Given the description of an element on the screen output the (x, y) to click on. 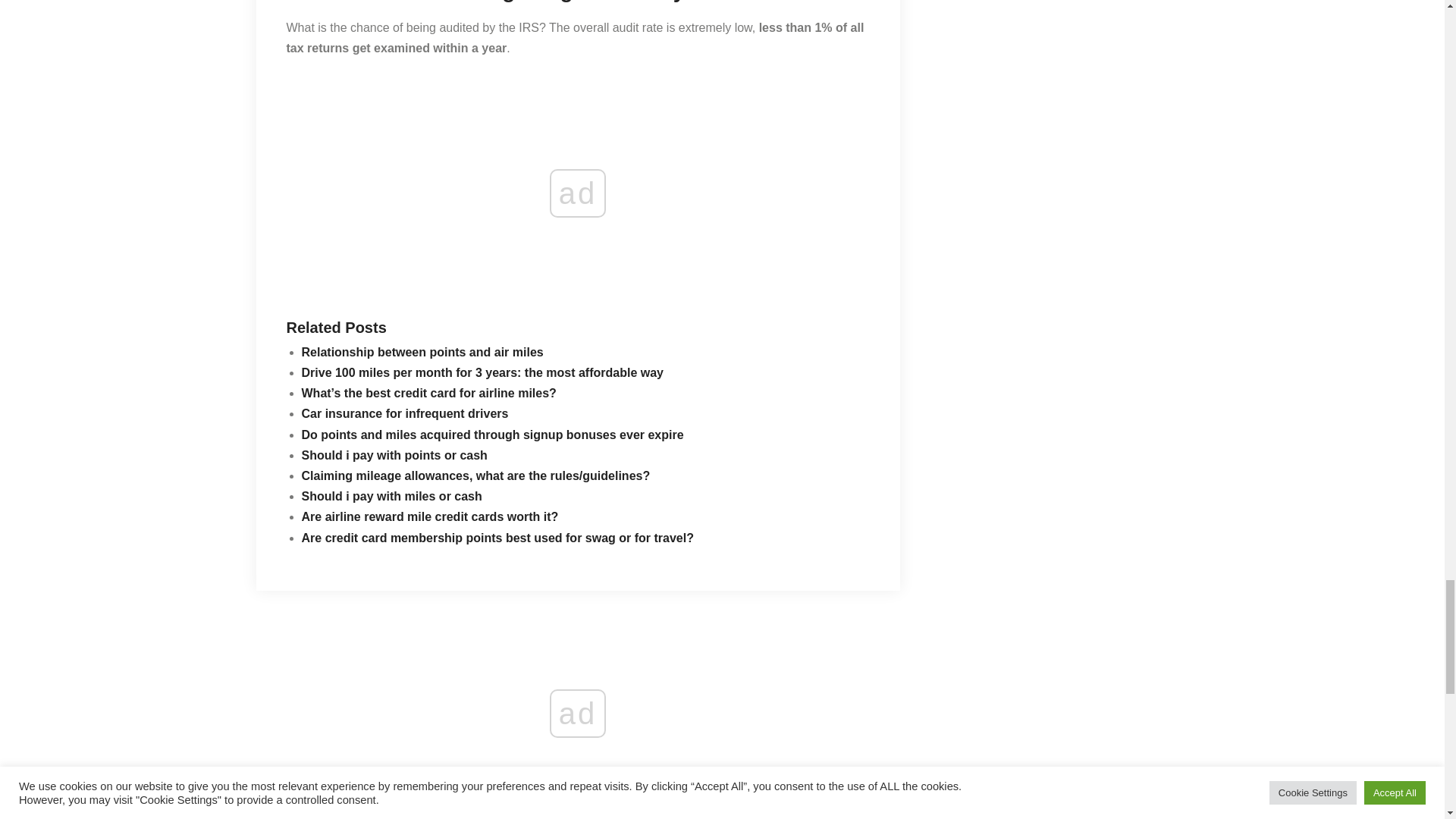
Should i pay with miles or cash (391, 495)
Are airline reward mile credit cards worth it? (430, 516)
Car insurance for infrequent drivers (404, 413)
Should i pay with points or cash (394, 454)
Relationship between points and air miles (422, 351)
